Given the description of an element on the screen output the (x, y) to click on. 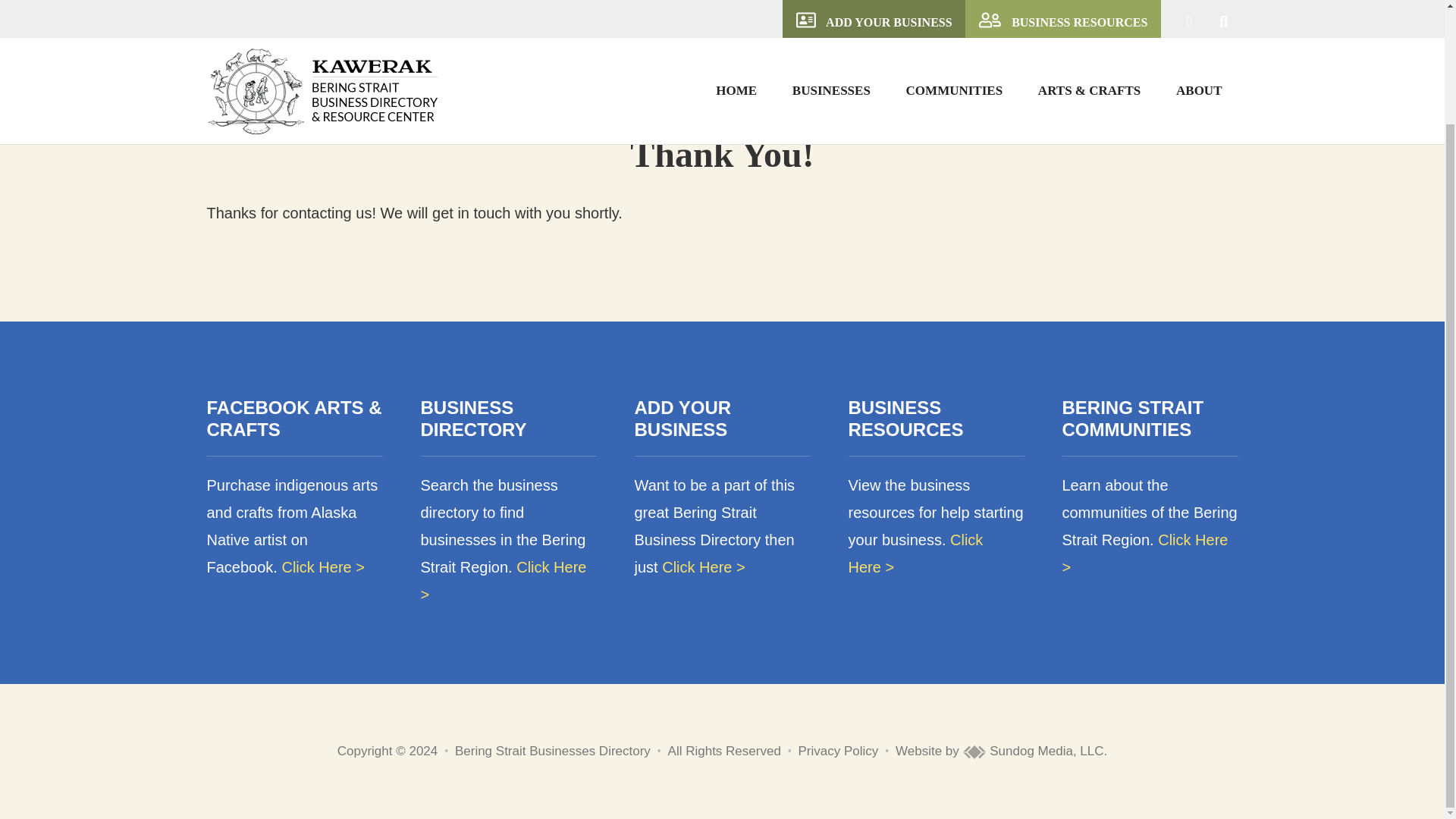
ABOUT (1198, 24)
HOME (736, 24)
Sundog Media, LLC (1032, 750)
COMMUNITIES (954, 24)
BUSINESSES (831, 24)
Privacy Policy (838, 750)
Bering Strait Businesses Directory (552, 750)
